Given the description of an element on the screen output the (x, y) to click on. 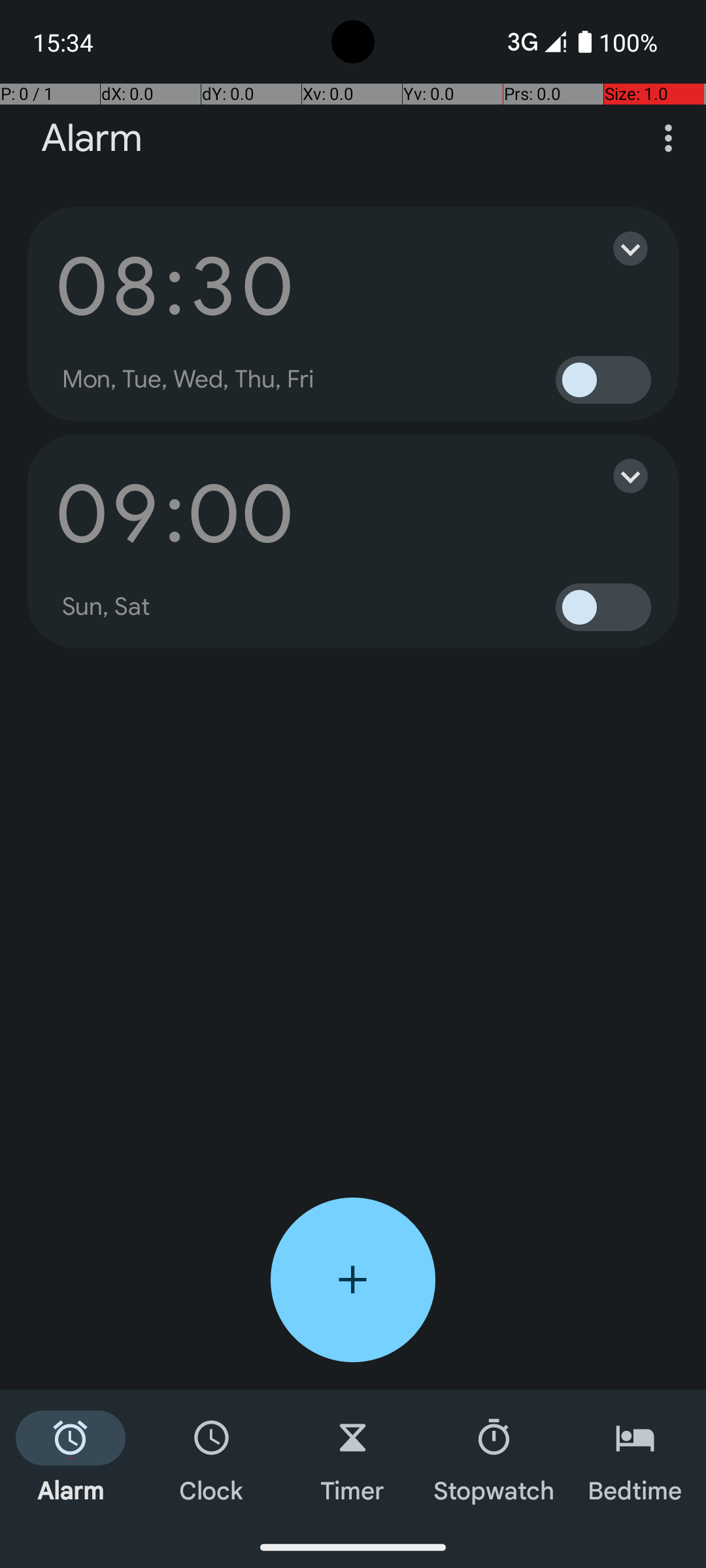
Add alarm Element type: android.widget.Button (352, 1279)
08:30 Element type: android.widget.TextView (174, 286)
Expand alarm Element type: android.widget.ImageButton (616, 248)
Mon, Tue, Wed, Thu, Fri Element type: android.widget.TextView (187, 379)
09:00 Element type: android.widget.TextView (174, 513)
Sun, Sat Element type: android.widget.TextView (106, 606)
